Given the description of an element on the screen output the (x, y) to click on. 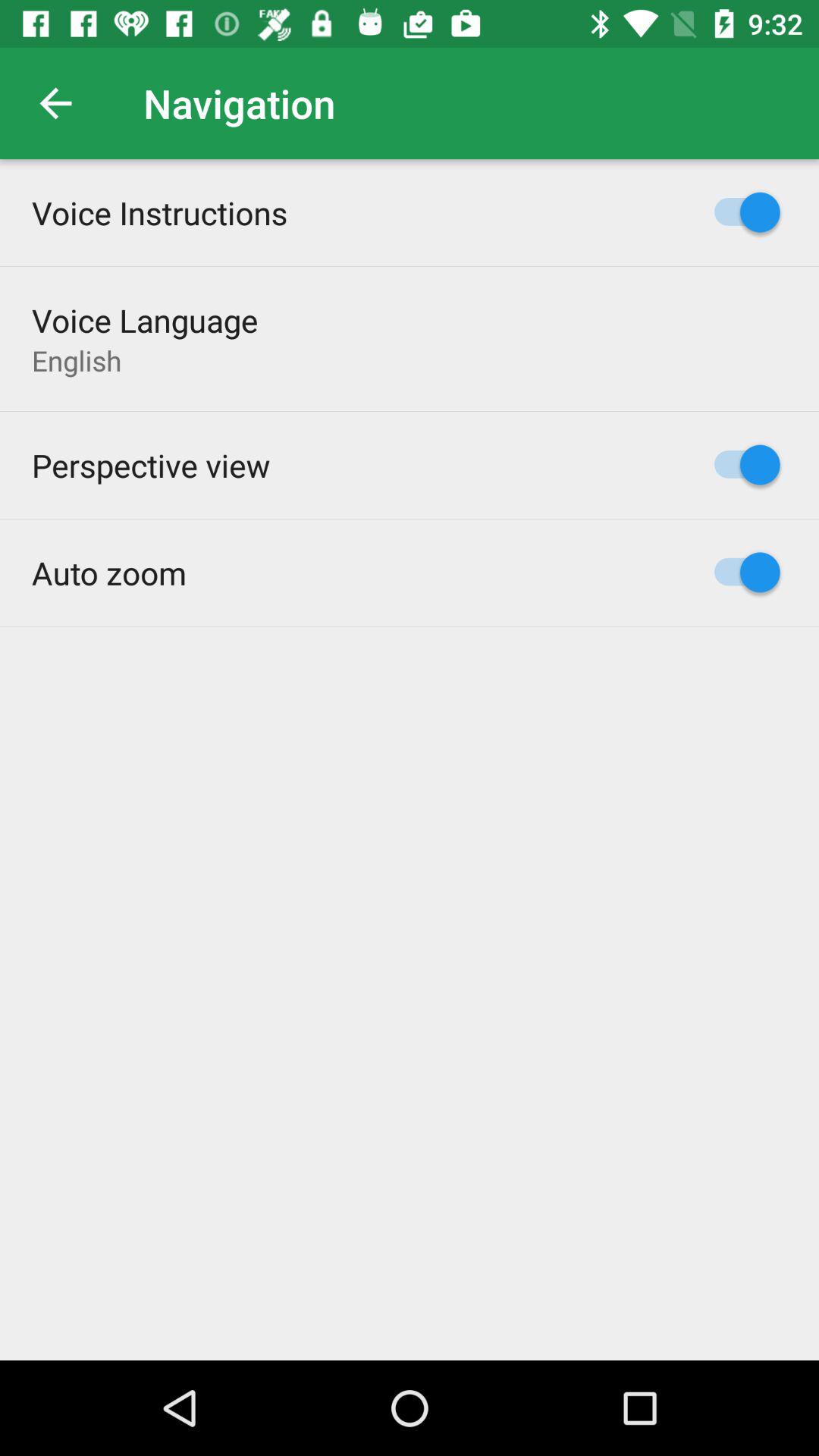
choose icon to the left of navigation icon (55, 103)
